Given the description of an element on the screen output the (x, y) to click on. 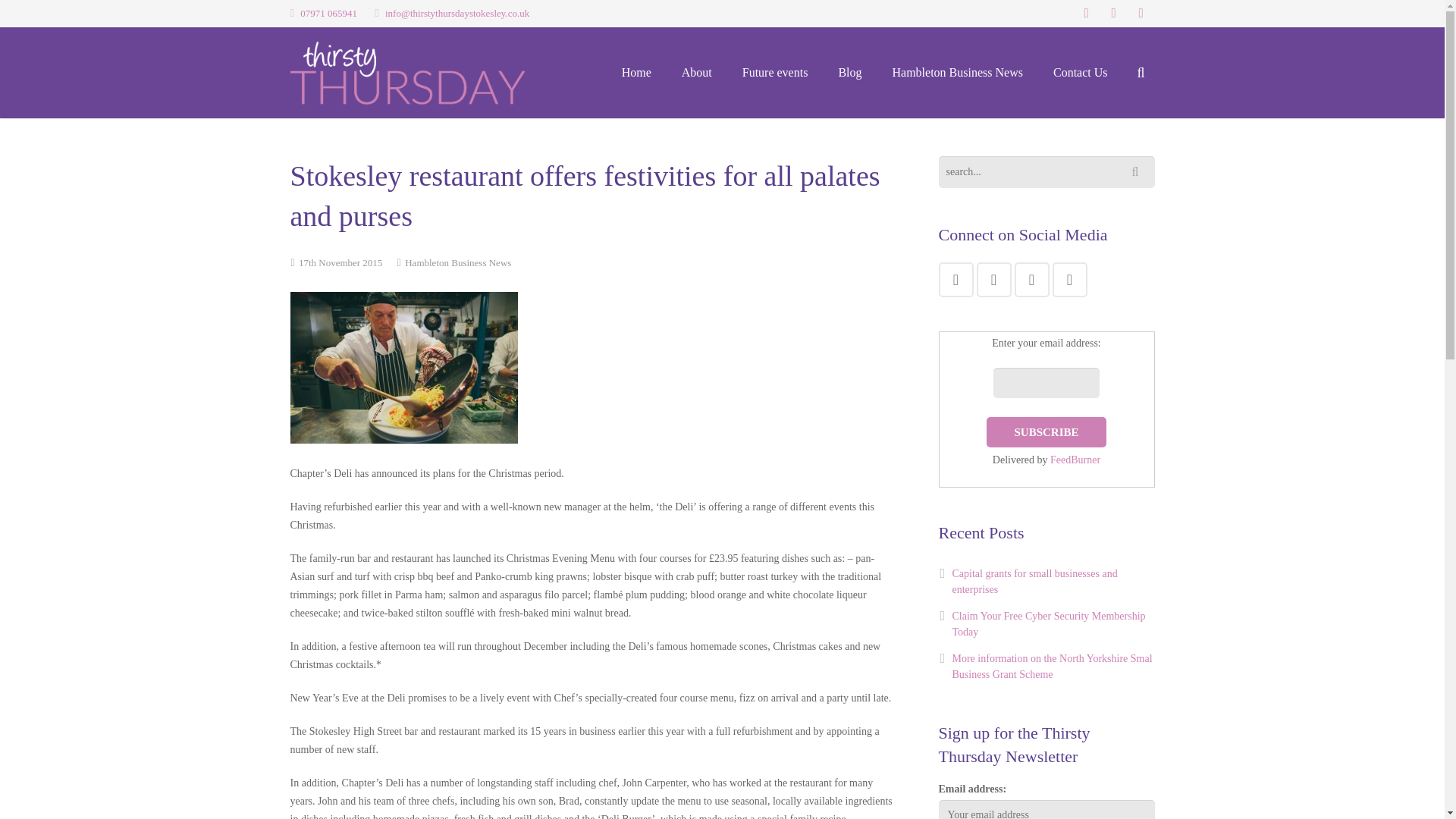
Search (50, 15)
Subscribe (1046, 431)
Search (1138, 172)
Future events (775, 72)
Capital grants for small businesses and enterprises (1035, 581)
Claim Your Free Cyber Security Membership Today (1048, 624)
Contact Us (1080, 72)
Search (1138, 172)
Hambleton Business News (957, 72)
Hambleton Business News (457, 262)
Subscribe (1046, 431)
FeedBurner (1074, 460)
